Given the description of an element on the screen output the (x, y) to click on. 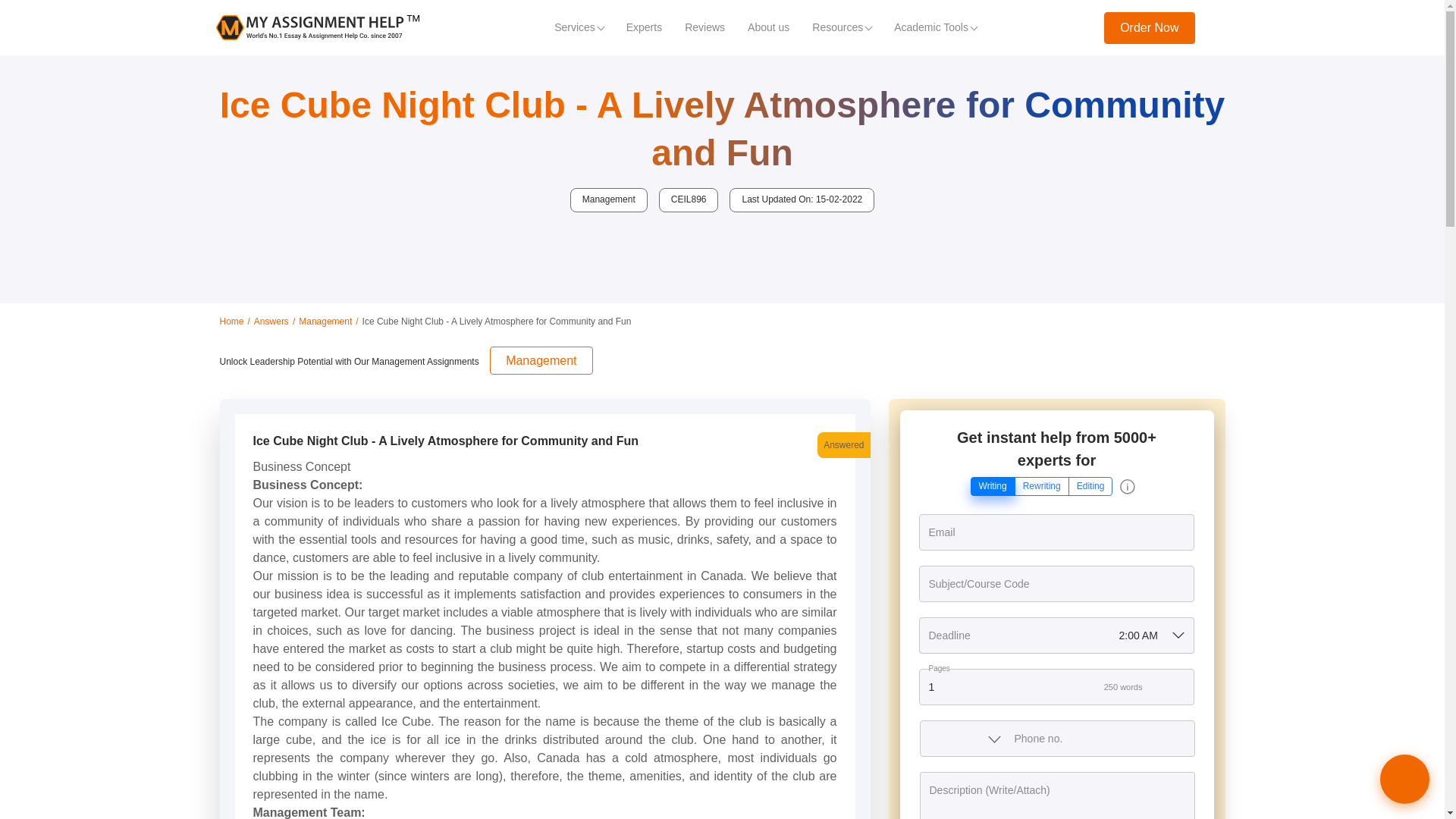
plus (1181, 687)
Experts (643, 27)
Academic Tools (935, 27)
Resources (841, 27)
Info (1127, 486)
menu (1218, 27)
myassignmenthelp (317, 27)
Services (578, 27)
About us (768, 27)
